Given the description of an element on the screen output the (x, y) to click on. 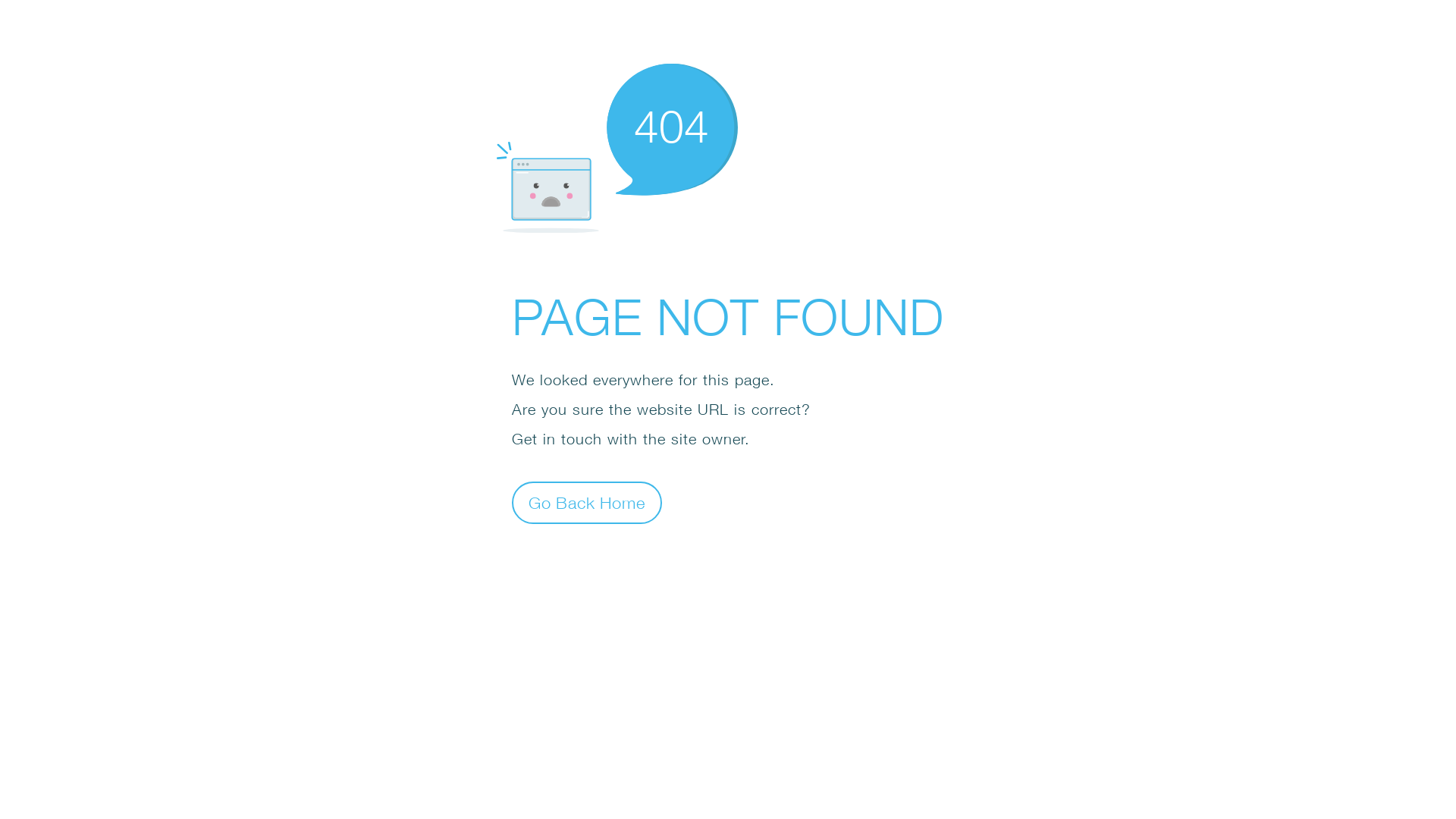
Go Back Home Element type: text (586, 502)
